Given the description of an element on the screen output the (x, y) to click on. 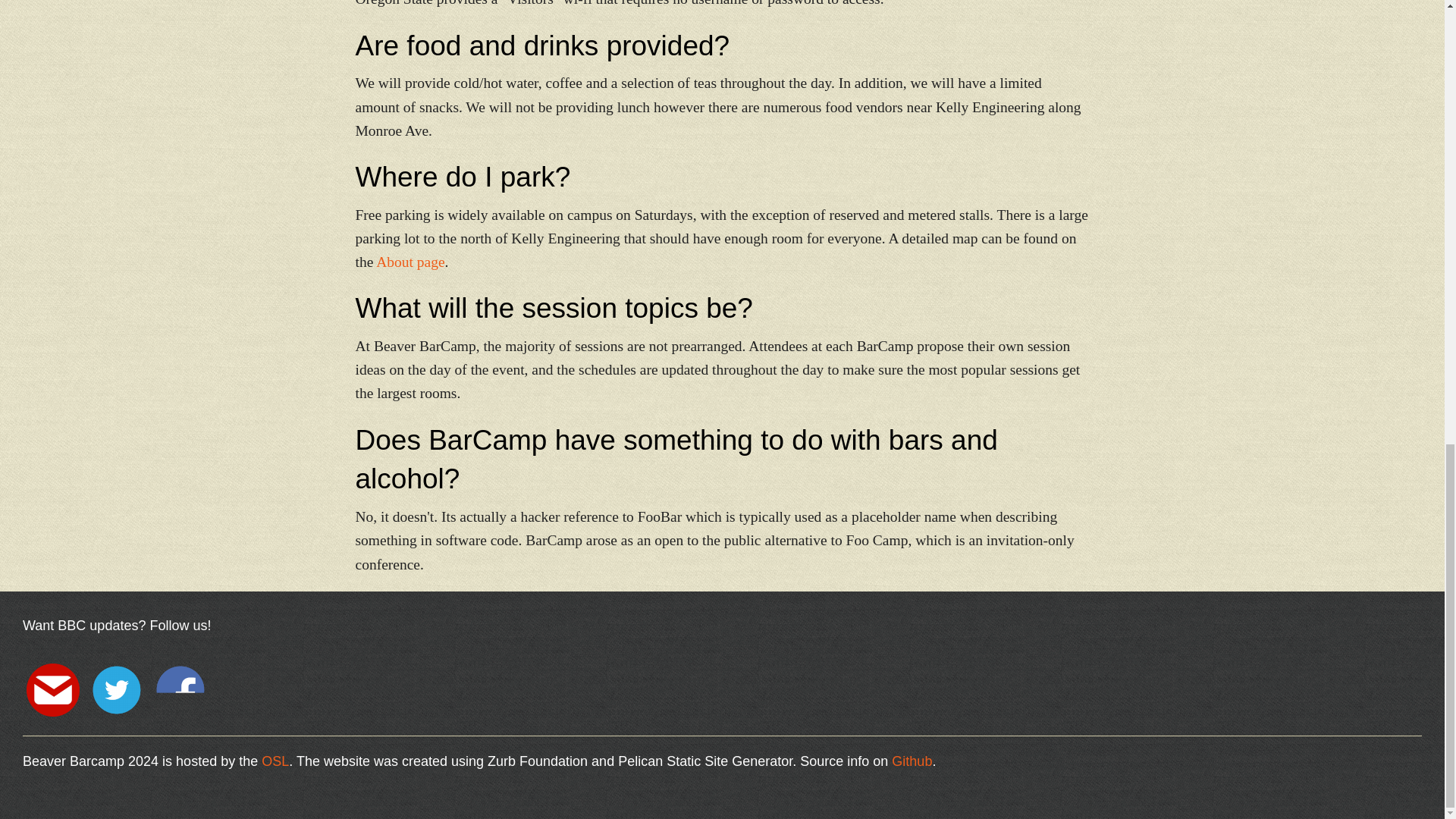
Github (911, 761)
OSL (275, 761)
About page (409, 261)
